Given the description of an element on the screen output the (x, y) to click on. 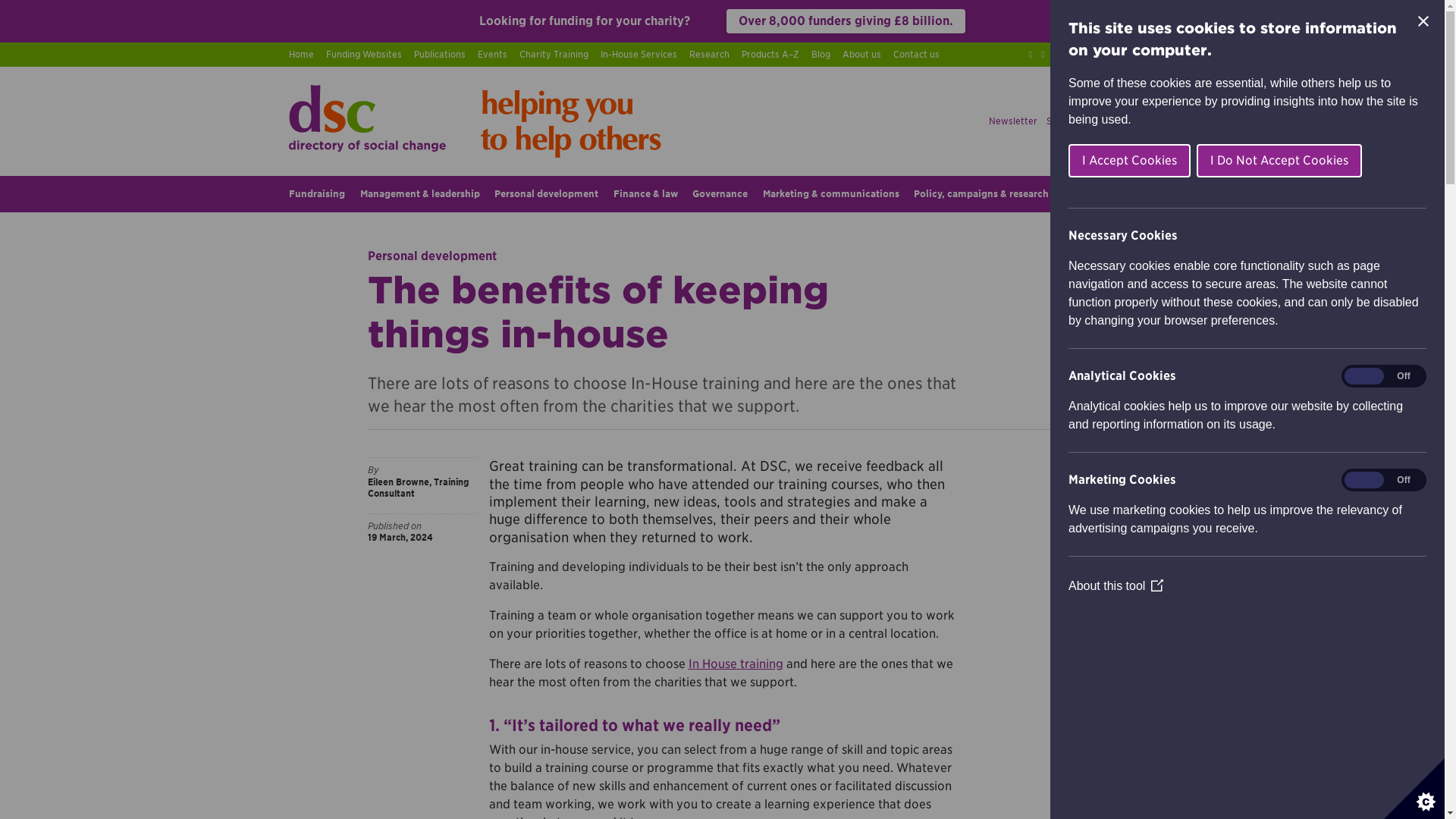
Go (1144, 54)
Home (301, 54)
I Accept Cookies (1362, 160)
Governance (720, 194)
Newsletter (1012, 121)
Contact us (916, 54)
Blog (819, 54)
Personal development (546, 194)
Personal development (431, 255)
Go (1144, 54)
Research (708, 54)
About us (861, 54)
In House training (735, 663)
Events (491, 54)
Funding Websites (363, 54)
